Given the description of an element on the screen output the (x, y) to click on. 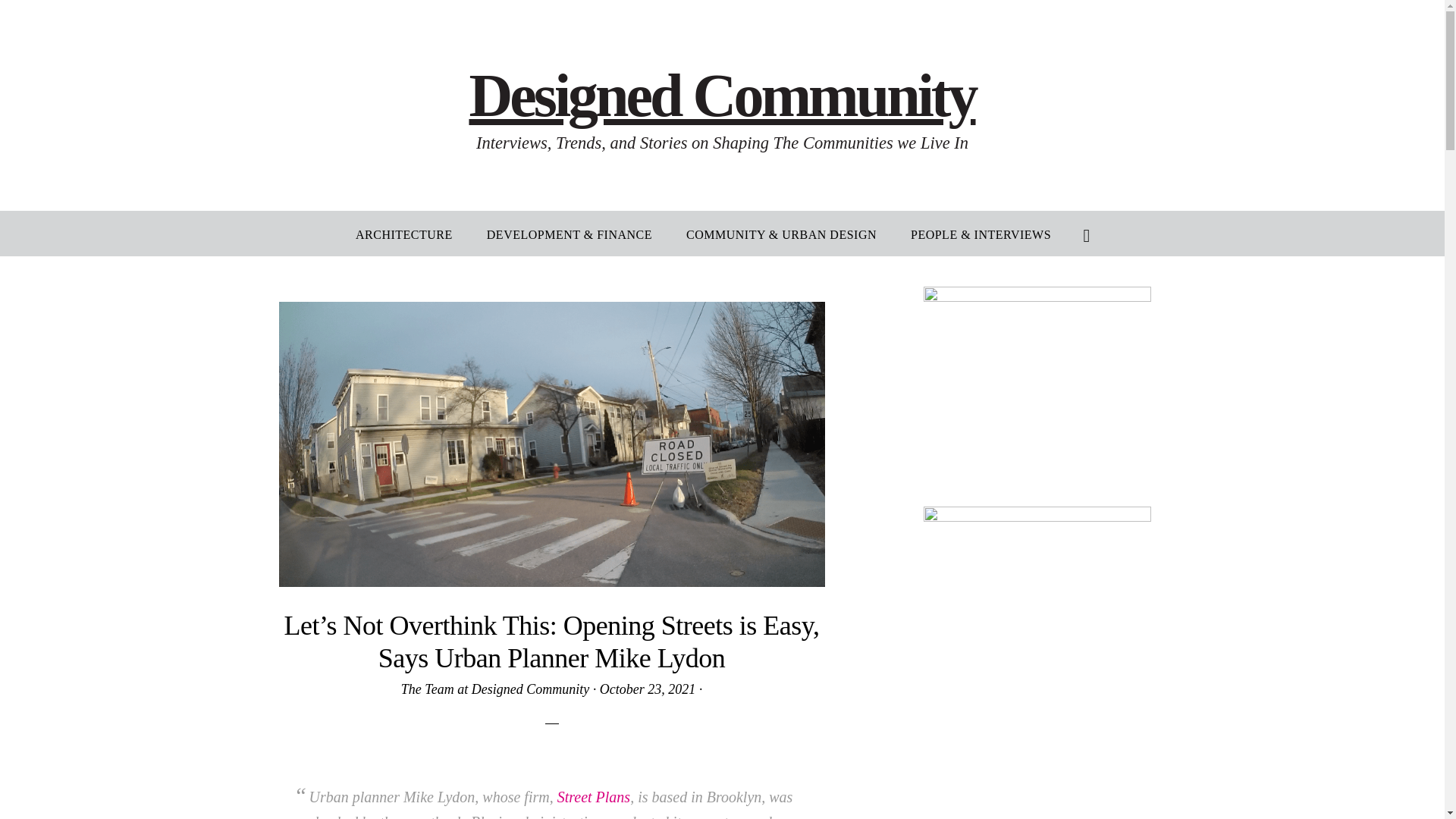
SHOW SEARCH (1086, 233)
The Team at Designed Community (495, 688)
ARCHITECTURE (403, 233)
Street Plans (593, 796)
Designed Community (721, 95)
